Given the description of an element on the screen output the (x, y) to click on. 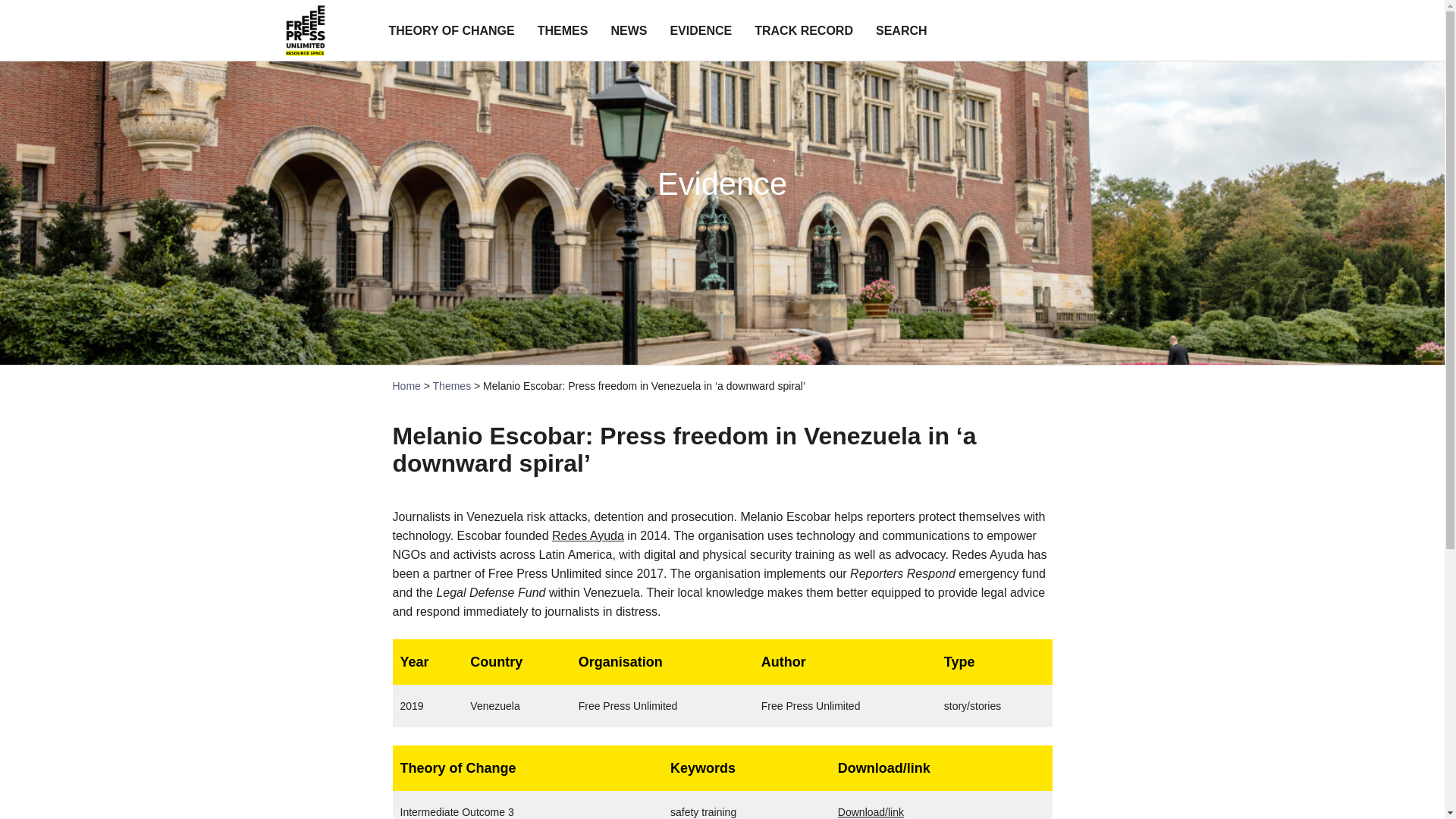
Redes Ayuda (587, 535)
THEORY OF CHANGE (450, 30)
EVIDENCE (700, 30)
THEMES (562, 30)
Go to Home. (406, 386)
NEWS (628, 30)
Home (406, 386)
Go to Themes. (451, 386)
Themes (451, 386)
SEARCH (901, 30)
TRACK RECORD (803, 30)
